Given the description of an element on the screen output the (x, y) to click on. 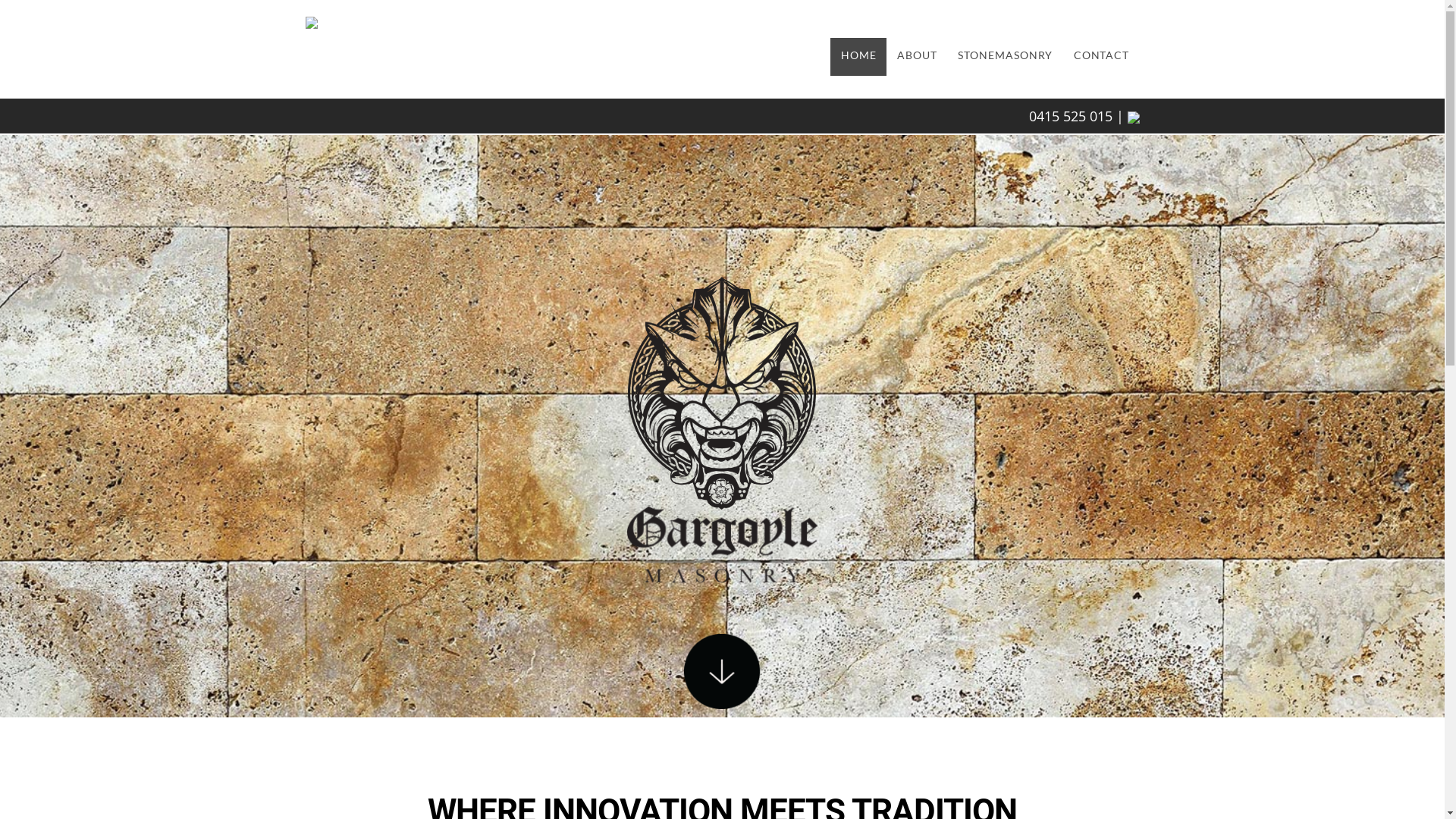
STONEMASONRY Element type: text (1005, 56)
CONTACT Element type: text (1101, 56)
0415 525 015 Element type: text (1069, 115)
HOME Element type: text (858, 56)
ABOUT Element type: text (916, 56)
